Given the description of an element on the screen output the (x, y) to click on. 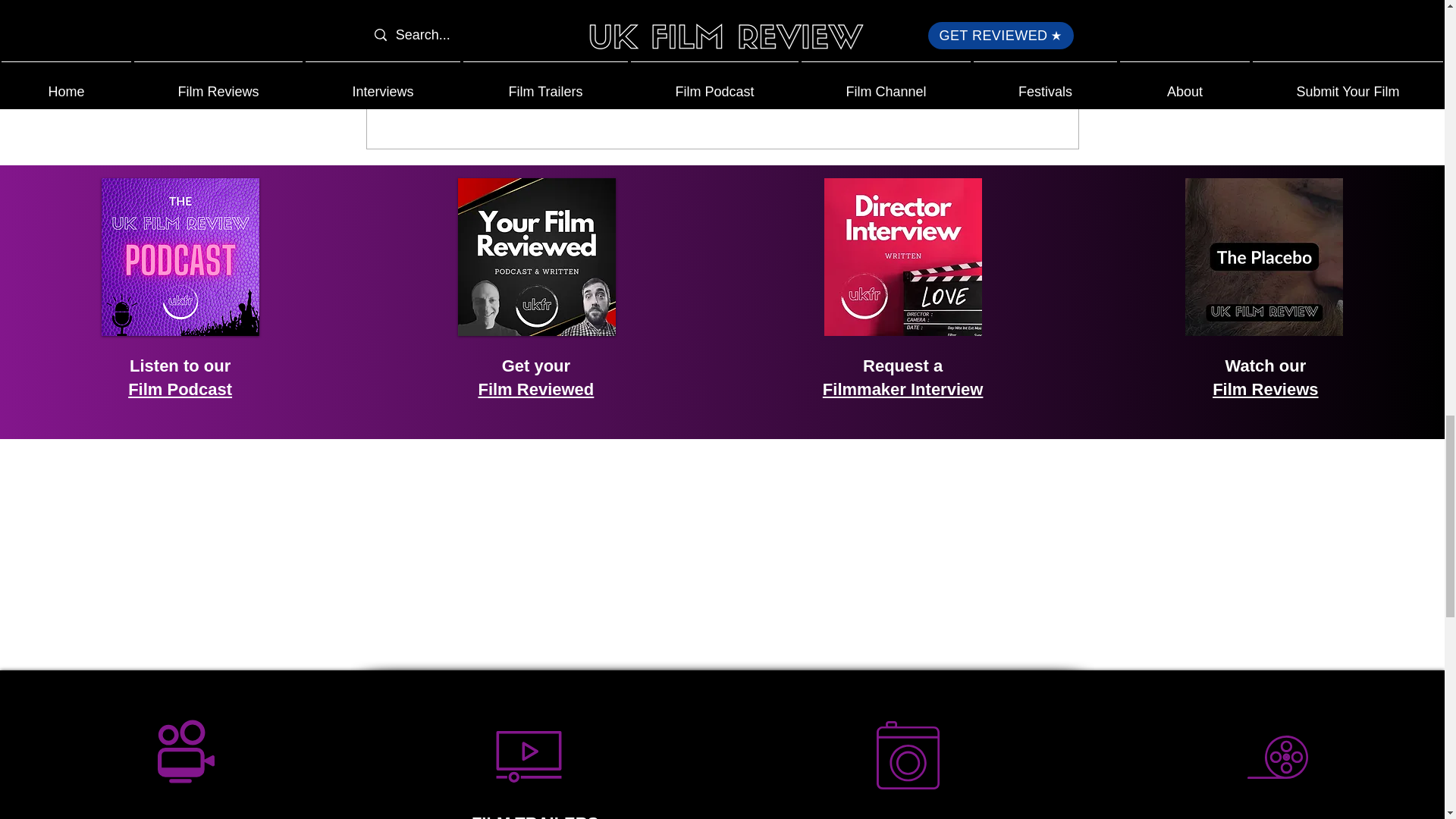
Video Film Reviews (1263, 256)
Filmmaker Interviews UK (902, 256)
The UK Film Review Podcast - artwork (180, 256)
Film Podcast Reviews (536, 256)
